Given the description of an element on the screen output the (x, y) to click on. 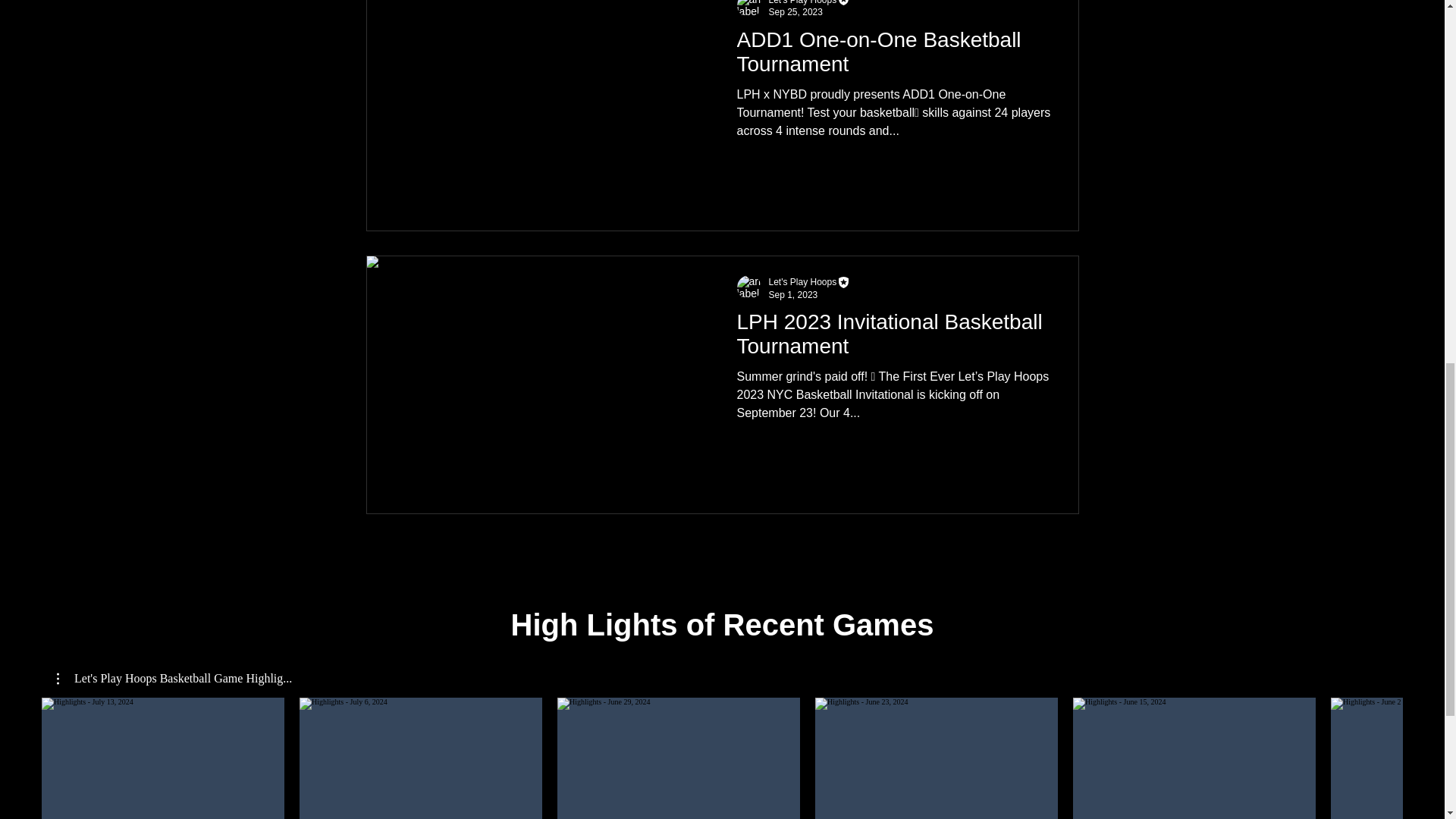
Sep 25, 2023 (795, 11)
Let's Play Hoops (809, 3)
LPH 2023 Invitational Basketball Tournament (893, 338)
Let's Play Hoops (809, 282)
Let's Play Hoops (802, 2)
Let's Play Hoops (802, 281)
ADD1 One-on-One Basketball Tournament (893, 56)
Sep 1, 2023 (793, 294)
